Given the description of an element on the screen output the (x, y) to click on. 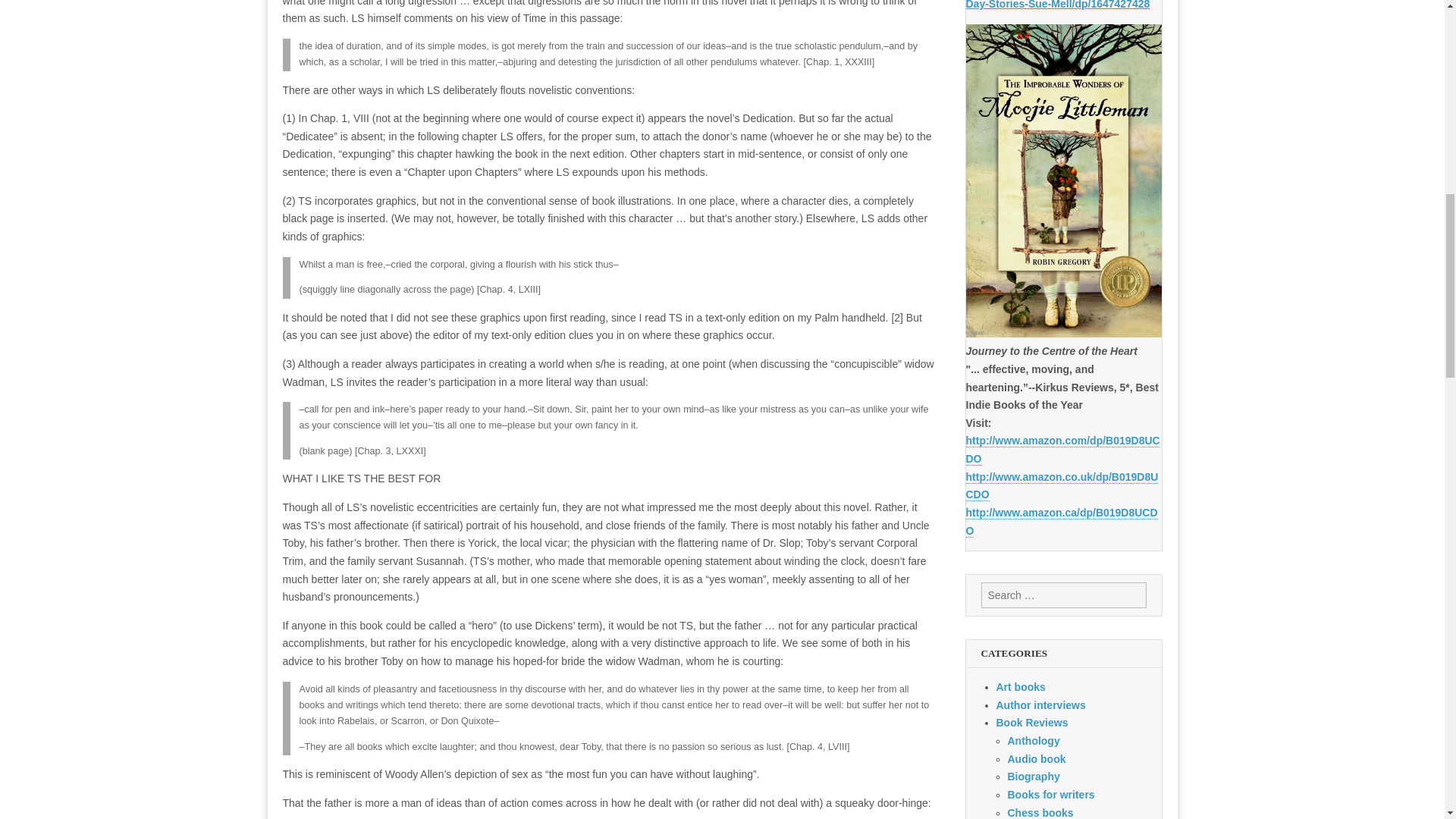
Audio book (1036, 758)
Books for writers (1050, 794)
Book Reviews (1031, 722)
Author interviews (1040, 705)
Chess books (1040, 812)
Art books (1020, 686)
Anthology (1033, 740)
Biography (1033, 776)
